Given the description of an element on the screen output the (x, y) to click on. 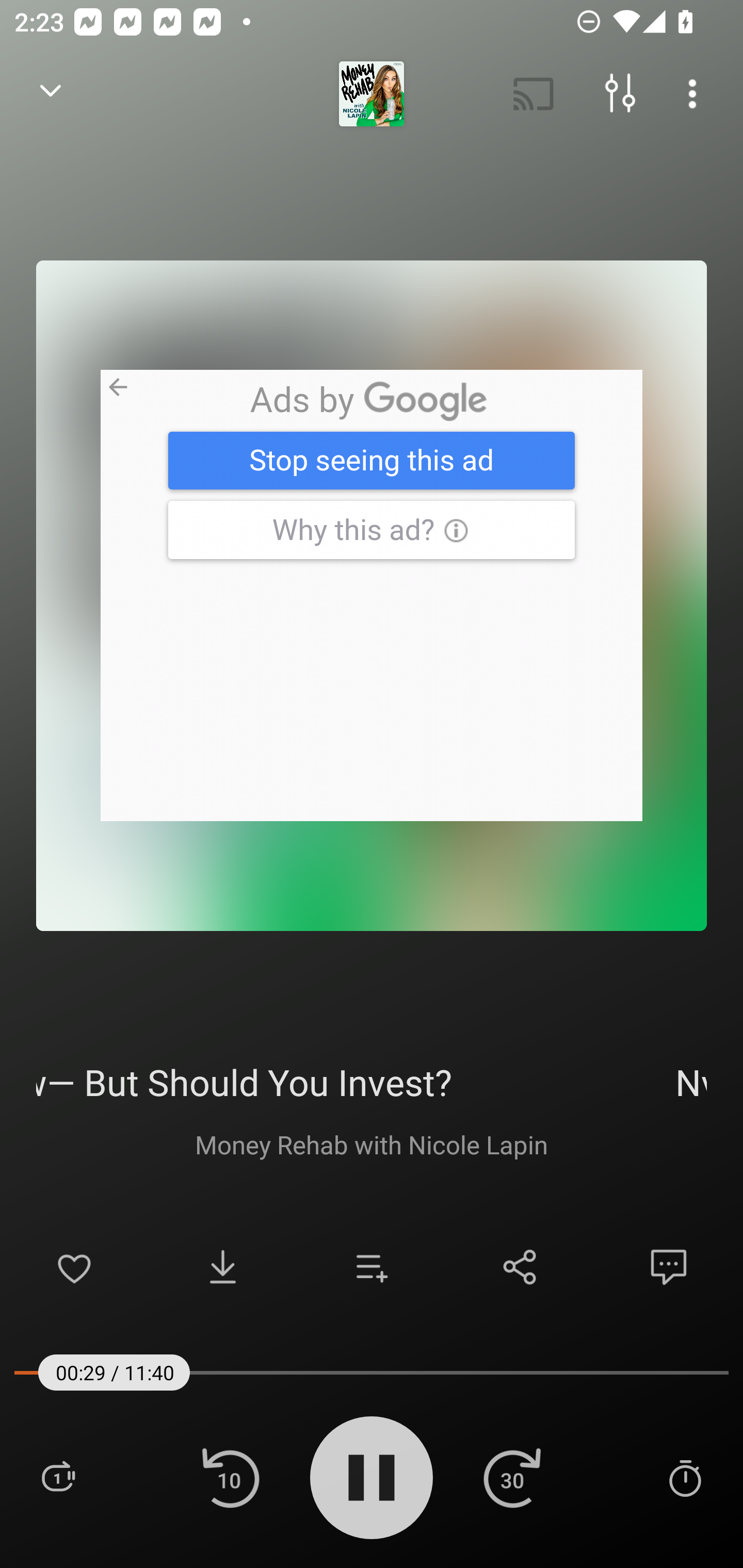
Cast. Disconnected (533, 93)
 Back (50, 94)
涨乐全球通-港股
美股打新开户… 4.7 Install Install (371, 595)
Money Rehab with Nicole Lapin (371, 1144)
Comments (668, 1266)
Add to Favorites (73, 1266)
Add to playlist (371, 1266)
Share (519, 1266)
 Playlist (57, 1477)
Sleep Timer  (684, 1477)
